Given the description of an element on the screen output the (x, y) to click on. 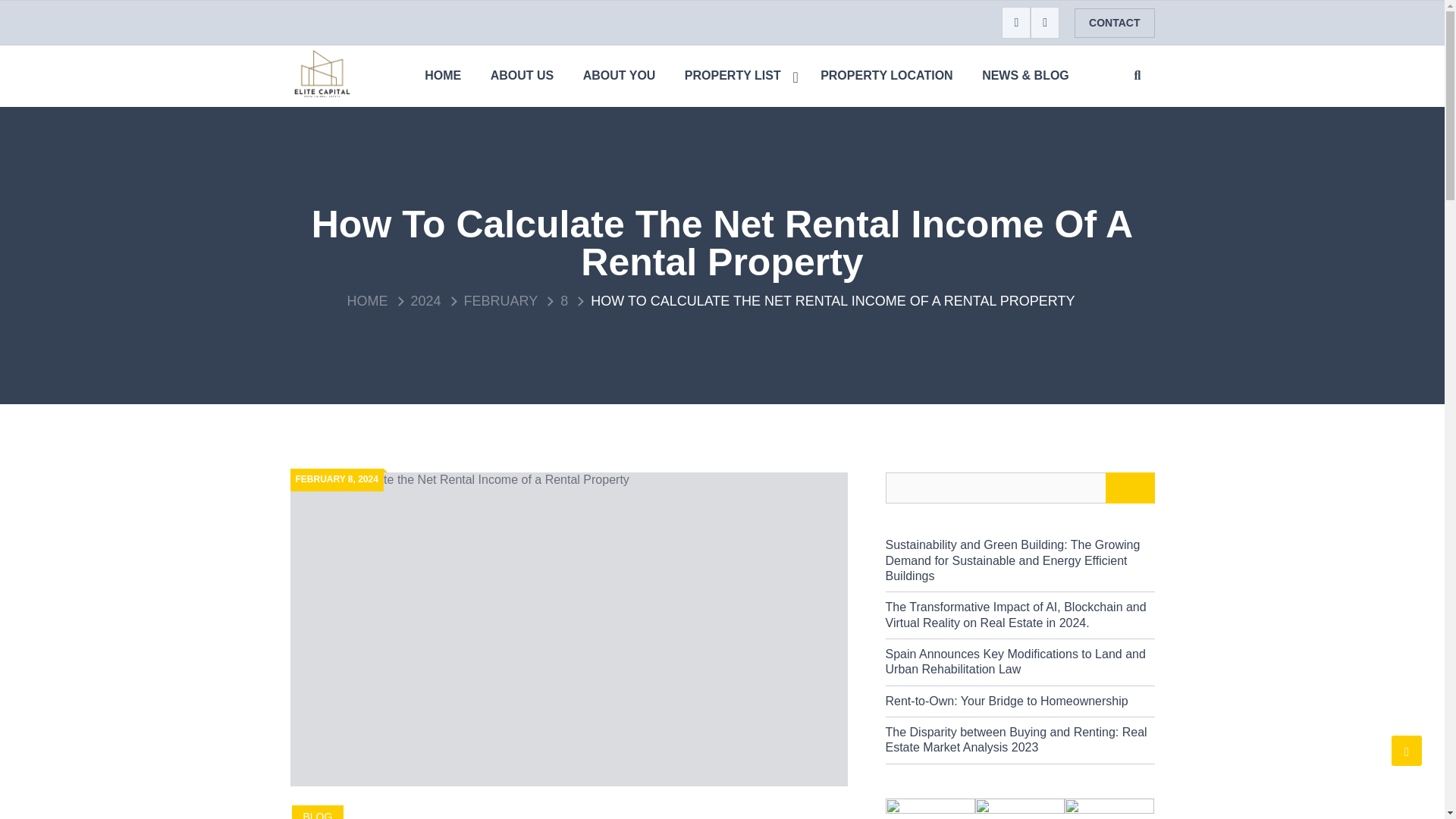
ABOUT YOU (619, 75)
PROPERTY LOCATION (887, 75)
FEBRUARY 8, 2024 (336, 479)
HOME (443, 75)
2024 (425, 300)
HOME (367, 300)
Search (1135, 104)
CONTACT (1114, 22)
FEBRUARY (501, 300)
PROPERTY LIST (738, 75)
